Given the description of an element on the screen output the (x, y) to click on. 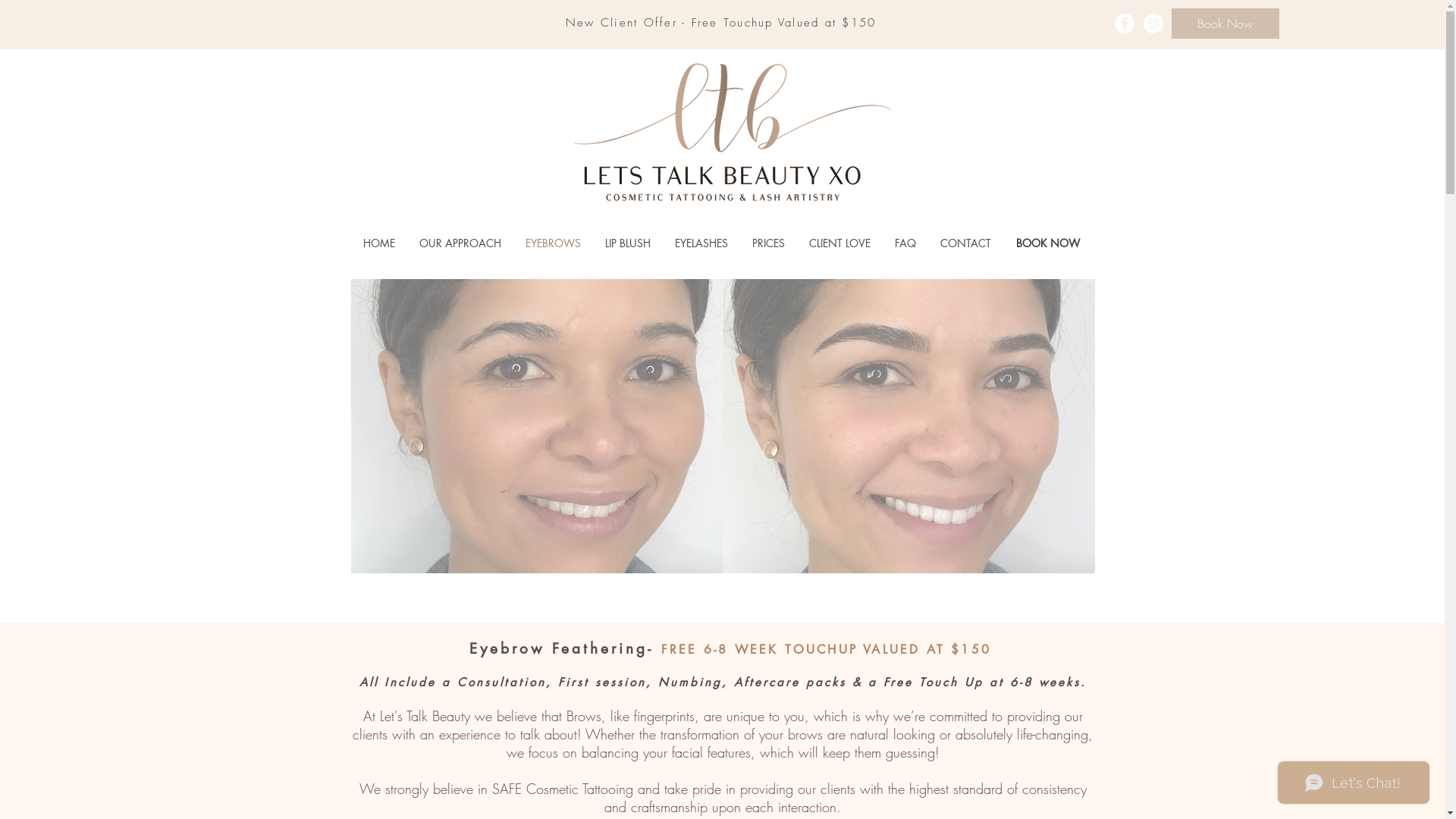
EYEBROWS Element type: text (552, 242)
HOME Element type: text (378, 242)
CONTACT Element type: text (965, 242)
PRICES Element type: text (768, 242)
BOOK NOW Element type: text (1047, 242)
CLIENT LOVE Element type: text (838, 242)
New Client Offer - Free Touchup Valued at $150 Element type: text (720, 22)
Book Now Element type: text (1224, 23)
FAQ Element type: text (905, 242)
OUR APPROACH Element type: text (459, 242)
EYELASHES Element type: text (701, 242)
LIP BLUSH Element type: text (627, 242)
